Given the description of an element on the screen output the (x, y) to click on. 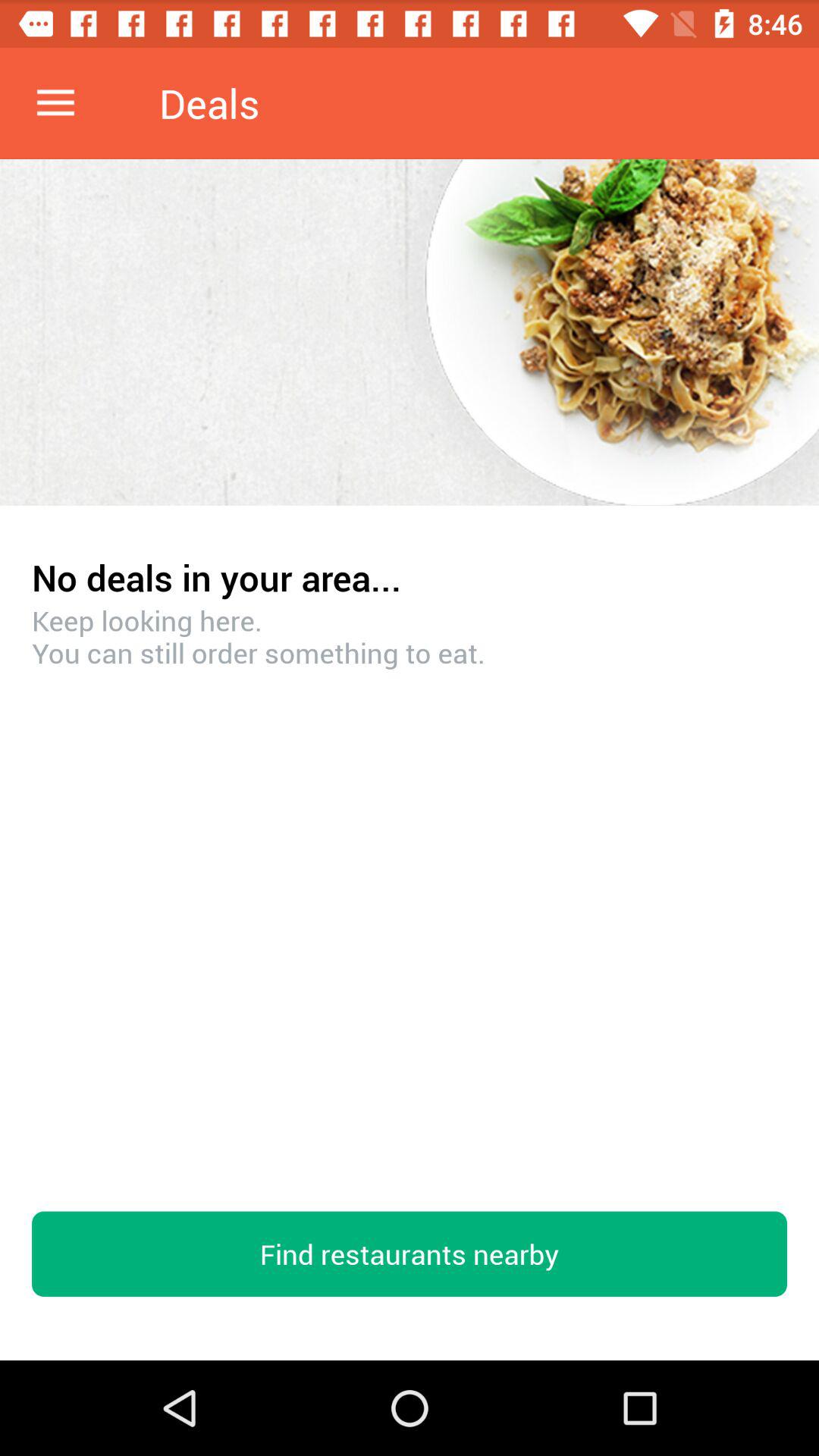
open the find restaurants nearby item (409, 1253)
